Given the description of an element on the screen output the (x, y) to click on. 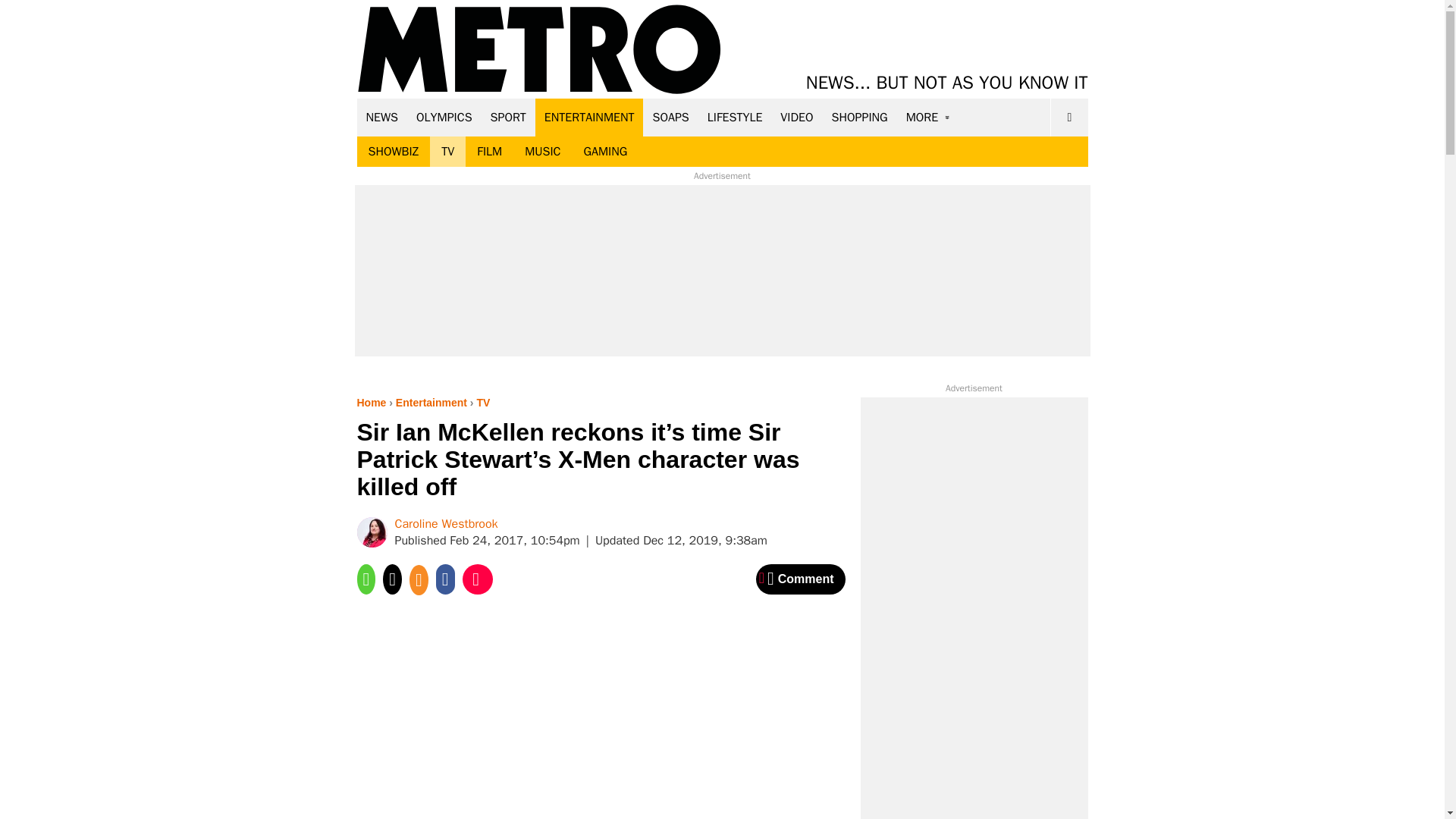
Metro (539, 50)
ENTERTAINMENT (589, 117)
SHOWBIZ (392, 151)
TV (447, 151)
NEWS (381, 117)
SOAPS (670, 117)
MUSIC (542, 151)
OLYMPICS (444, 117)
GAMING (605, 151)
SPORT (508, 117)
LIFESTYLE (734, 117)
FILM (489, 151)
